Given the description of an element on the screen output the (x, y) to click on. 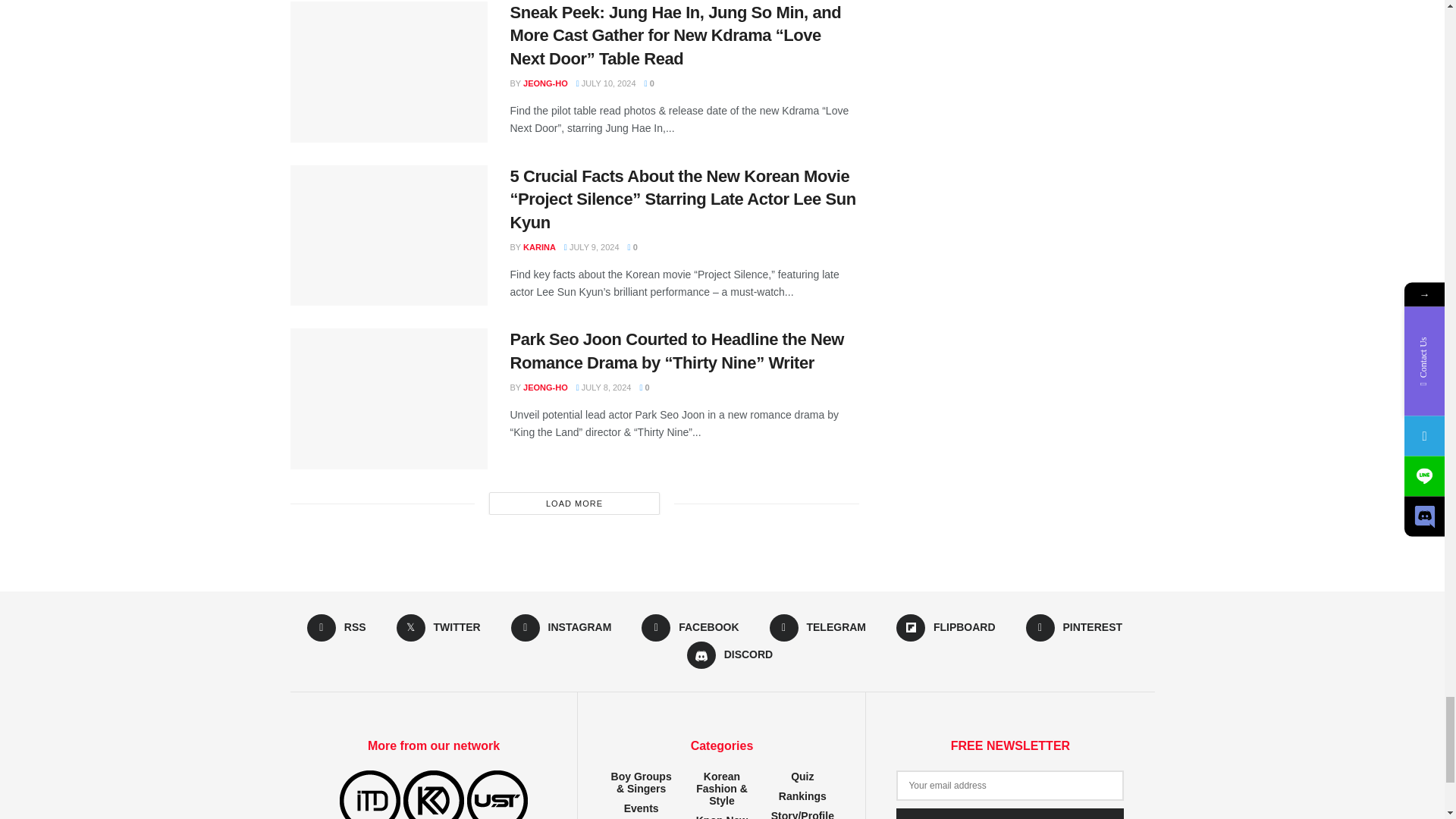
Sign up (1010, 813)
